Given the description of an element on the screen output the (x, y) to click on. 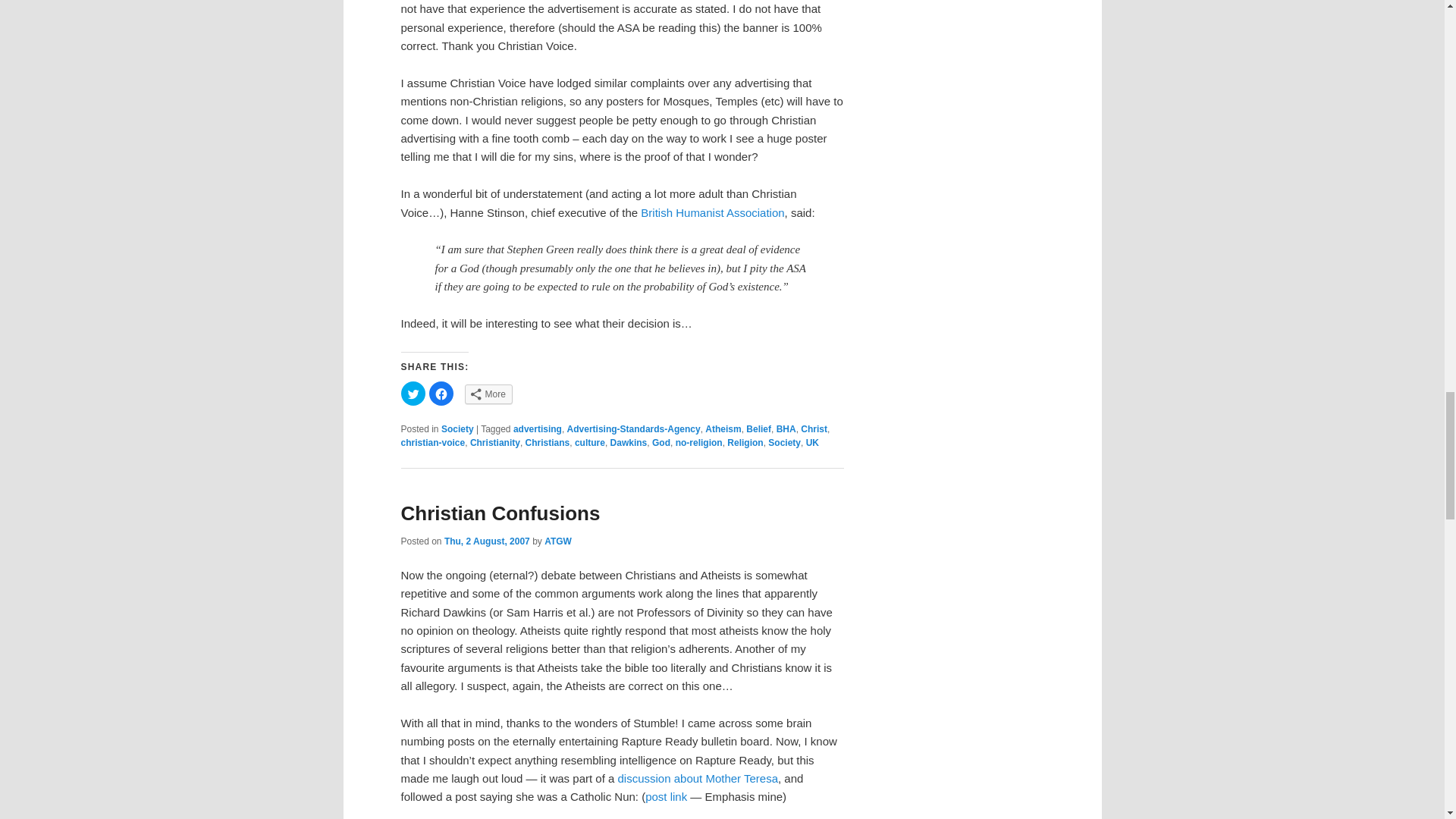
20:03 (486, 541)
Click to share on Facebook (440, 393)
Click to share on Twitter (412, 393)
View all posts by ATGW (558, 541)
